Given the description of an element on the screen output the (x, y) to click on. 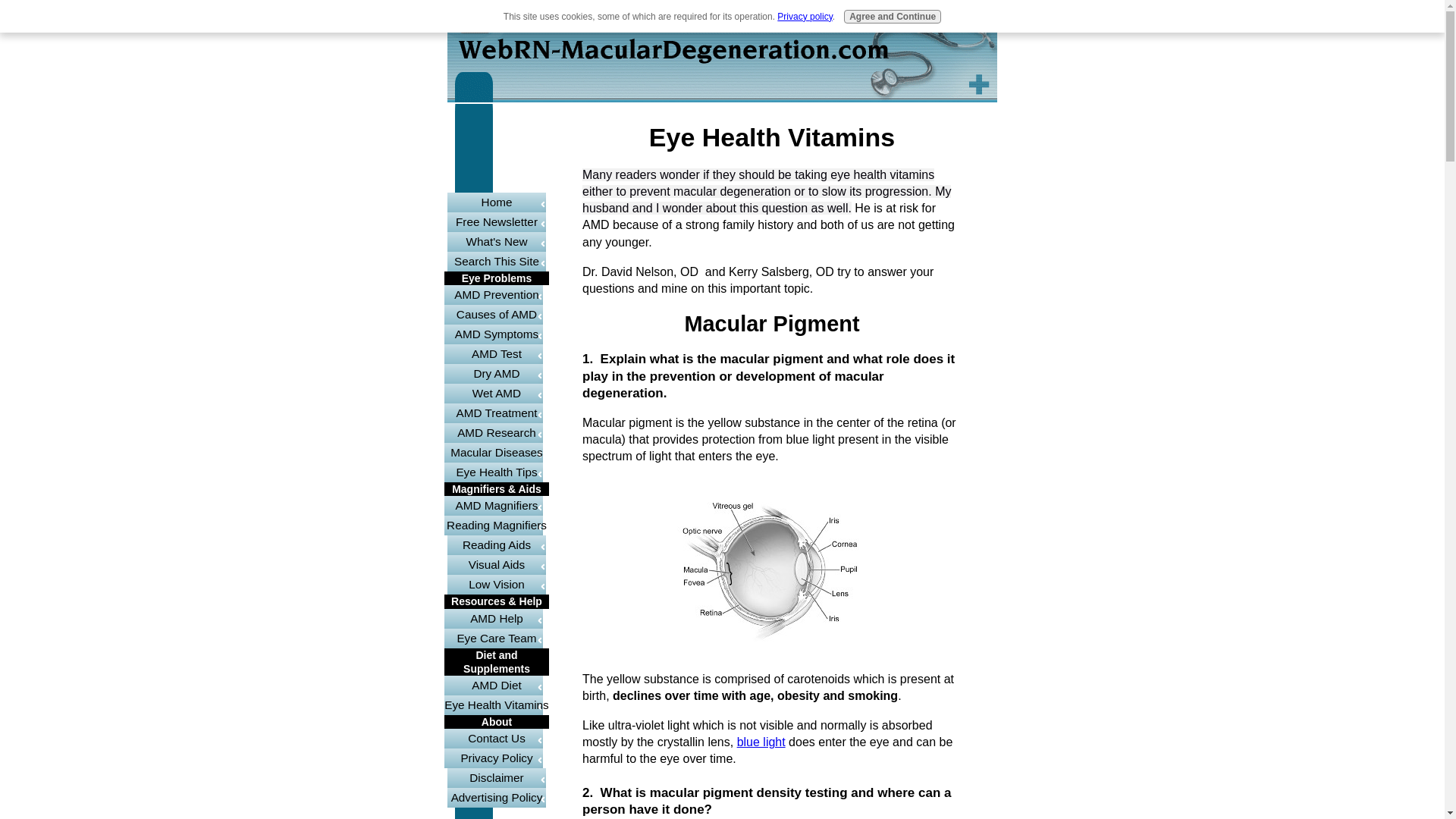
Eye Health Tips (496, 472)
AMD Treatment (496, 413)
Advertising Policy (496, 797)
Causes of AMD (496, 314)
Home (496, 202)
Contact Us (496, 738)
AMD Symptoms (496, 333)
Privacy Policy (496, 758)
blue light (761, 741)
Dry AMD (496, 373)
AMD Help (496, 618)
Wet AMD (496, 393)
AMD Diet (496, 685)
AMD Prevention (496, 294)
Visual Aids (496, 564)
